Given the description of an element on the screen output the (x, y) to click on. 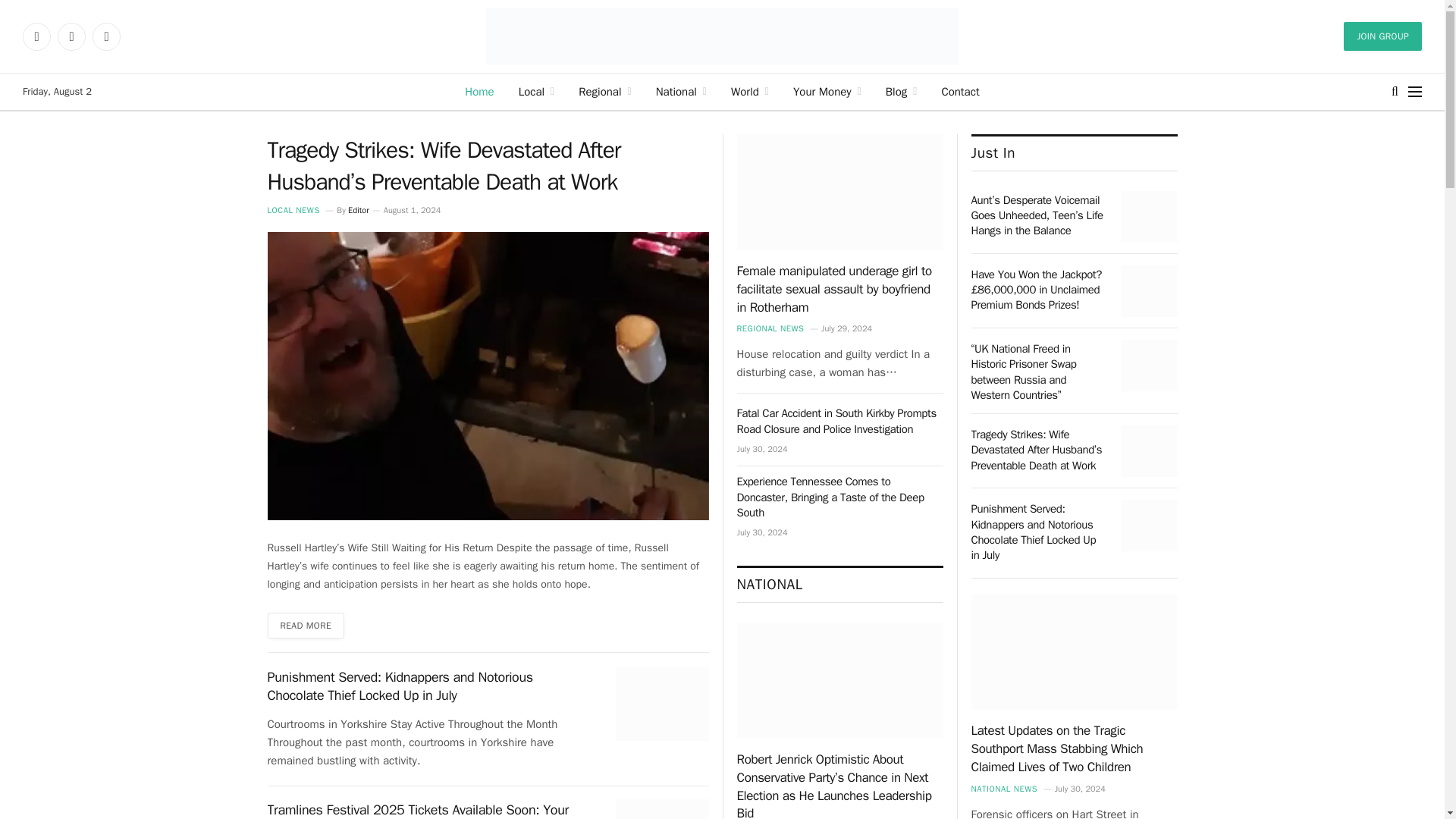
Instagram (71, 36)
Home (478, 91)
National (681, 91)
Regional (604, 91)
Facebook (36, 36)
TikTok (106, 36)
Local (536, 91)
JOIN GROUP (1382, 36)
The South Yorkshire Scoop (722, 36)
